Given the description of an element on the screen output the (x, y) to click on. 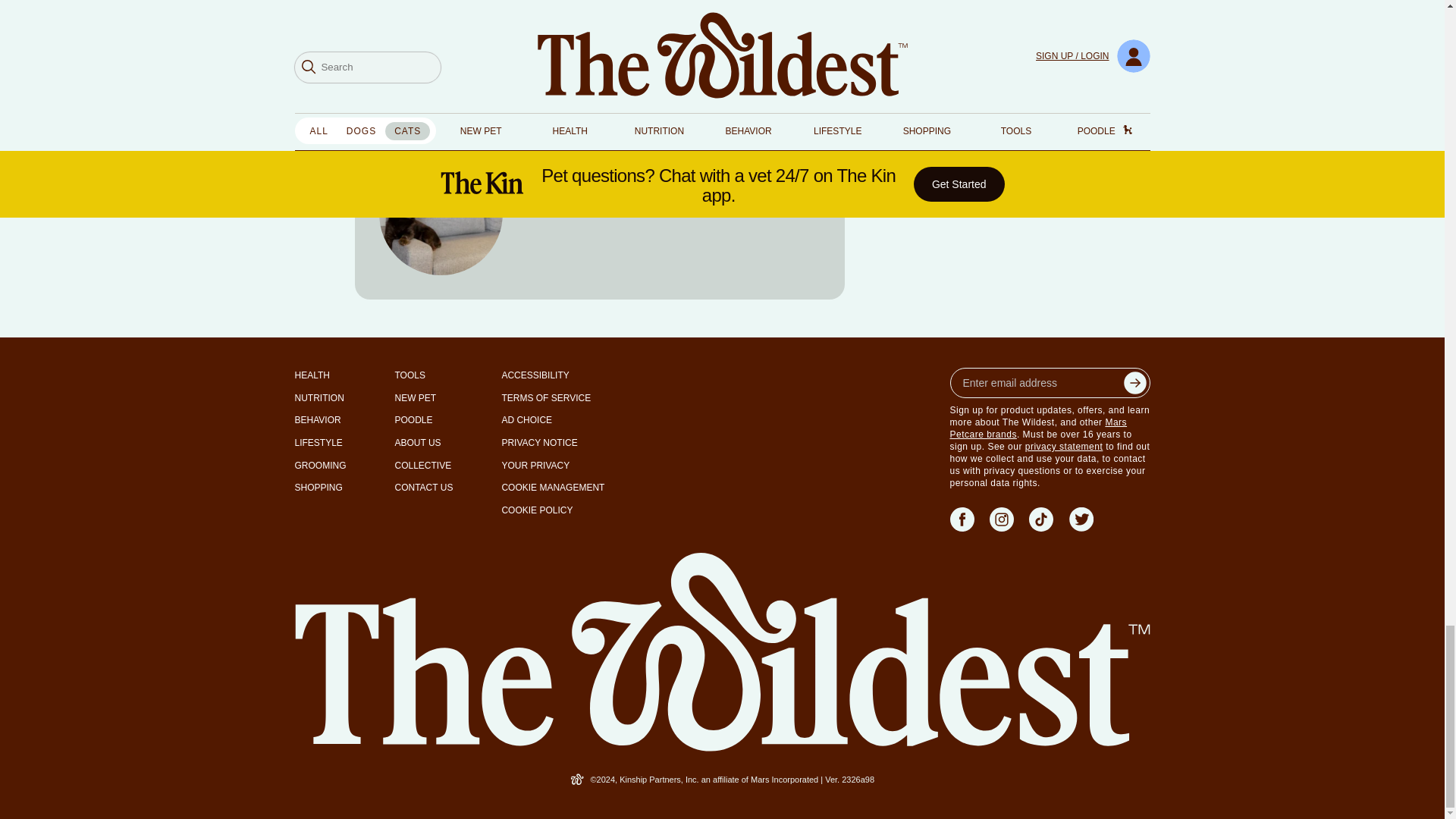
The letter "W" from the Wildest logo (577, 779)
